Given the description of an element on the screen output the (x, y) to click on. 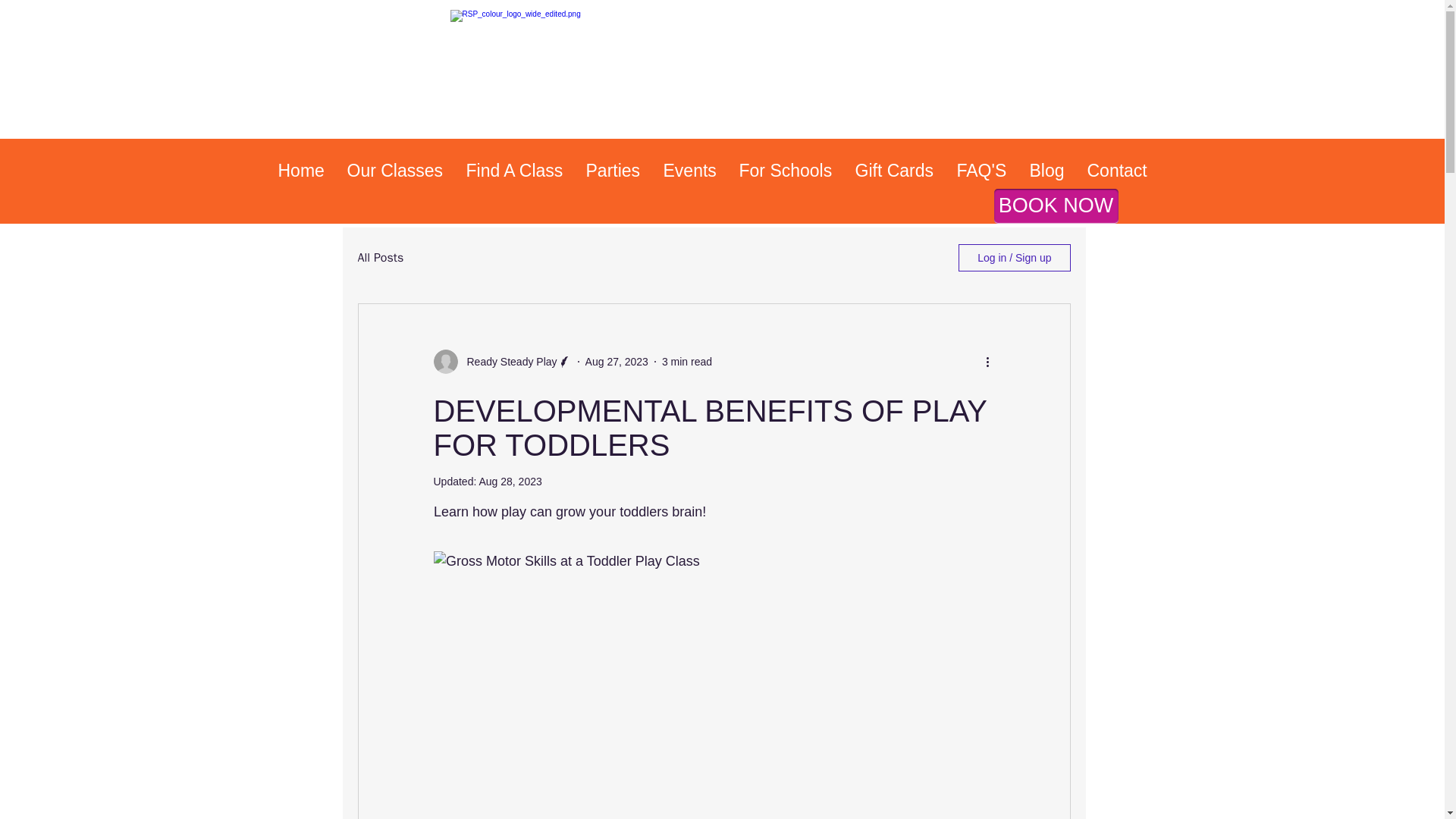
Events (690, 170)
BOOK NOW (1055, 206)
All Posts (381, 258)
Aug 28, 2023 (510, 481)
Aug 27, 2023 (616, 360)
Ready Steady Play (507, 360)
3 min read (686, 360)
Parties (613, 170)
Contact (1116, 170)
For Schools (786, 170)
